Given the description of an element on the screen output the (x, y) to click on. 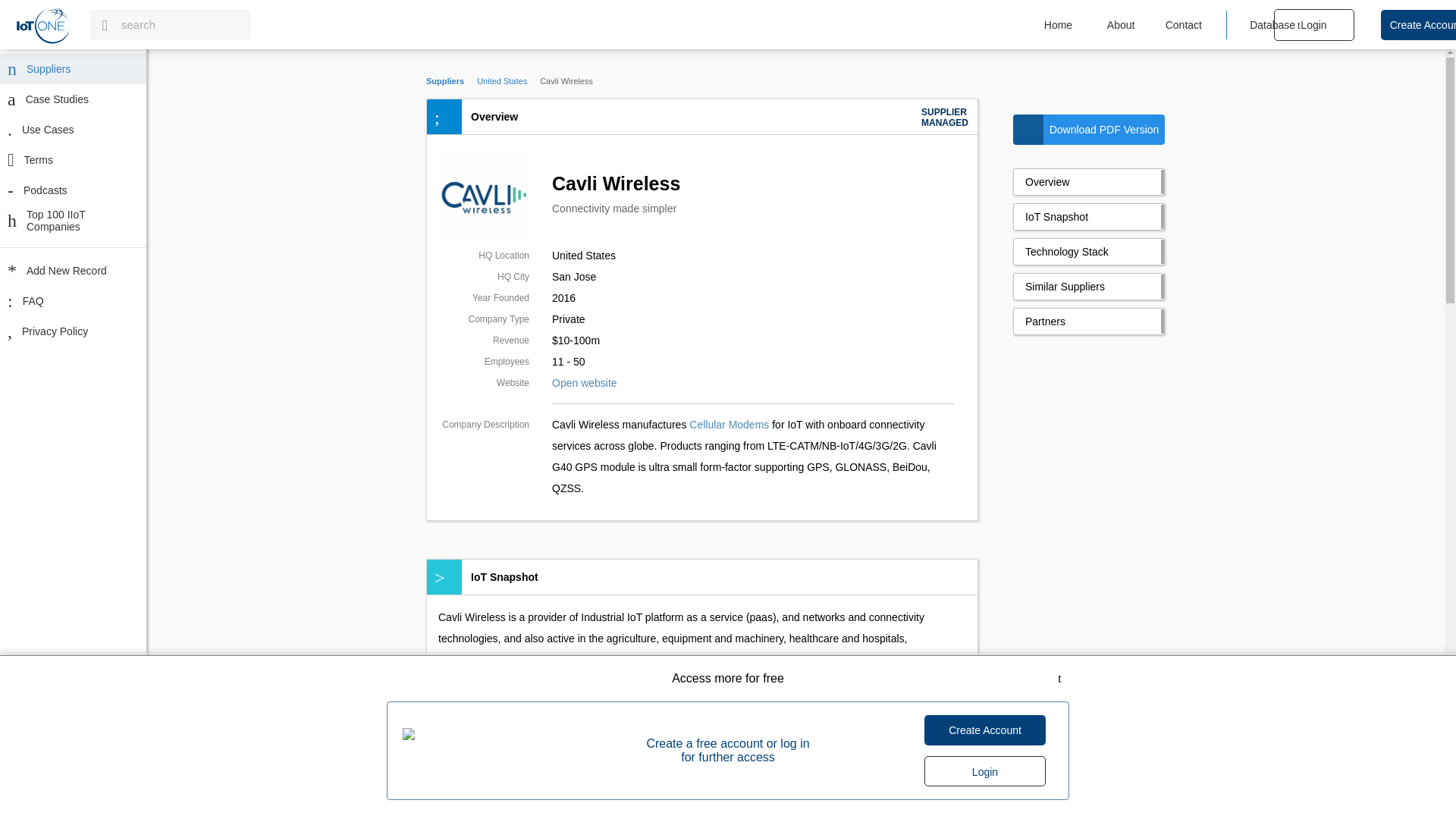
Add New Record (73, 270)
Contact (1182, 24)
Open website (584, 382)
Top 100 IIoT Companies (73, 220)
About (1121, 24)
Podcasts (73, 190)
Suppliers (445, 80)
United States (502, 80)
Case Studies (73, 99)
Privacy Policy (73, 331)
Use Cases (73, 129)
FAQ (73, 300)
Cellular Modems (728, 424)
Home (1057, 24)
Suppliers (73, 69)
